Given the description of an element on the screen output the (x, y) to click on. 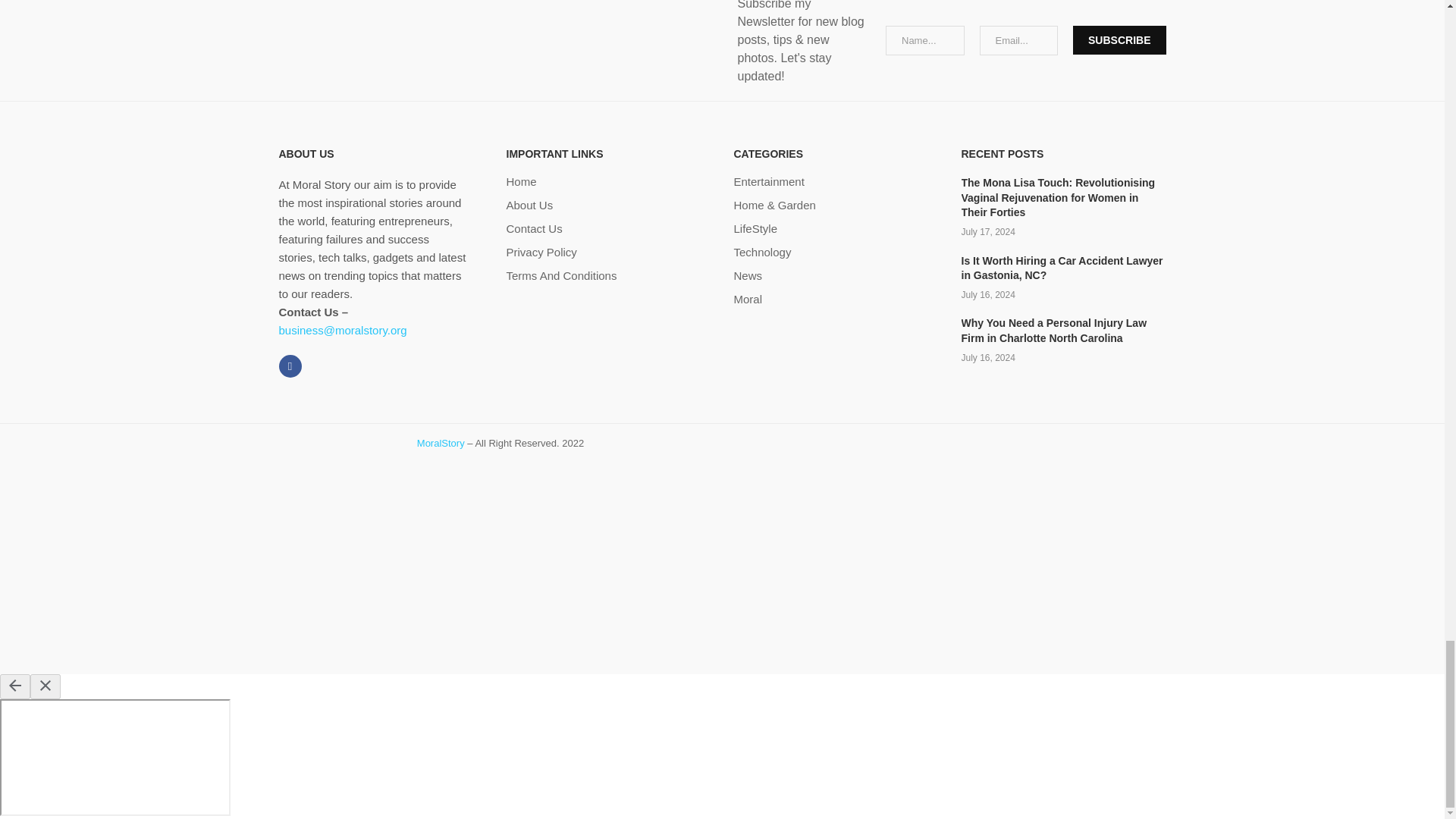
Subscribe (1119, 39)
